Given the description of an element on the screen output the (x, y) to click on. 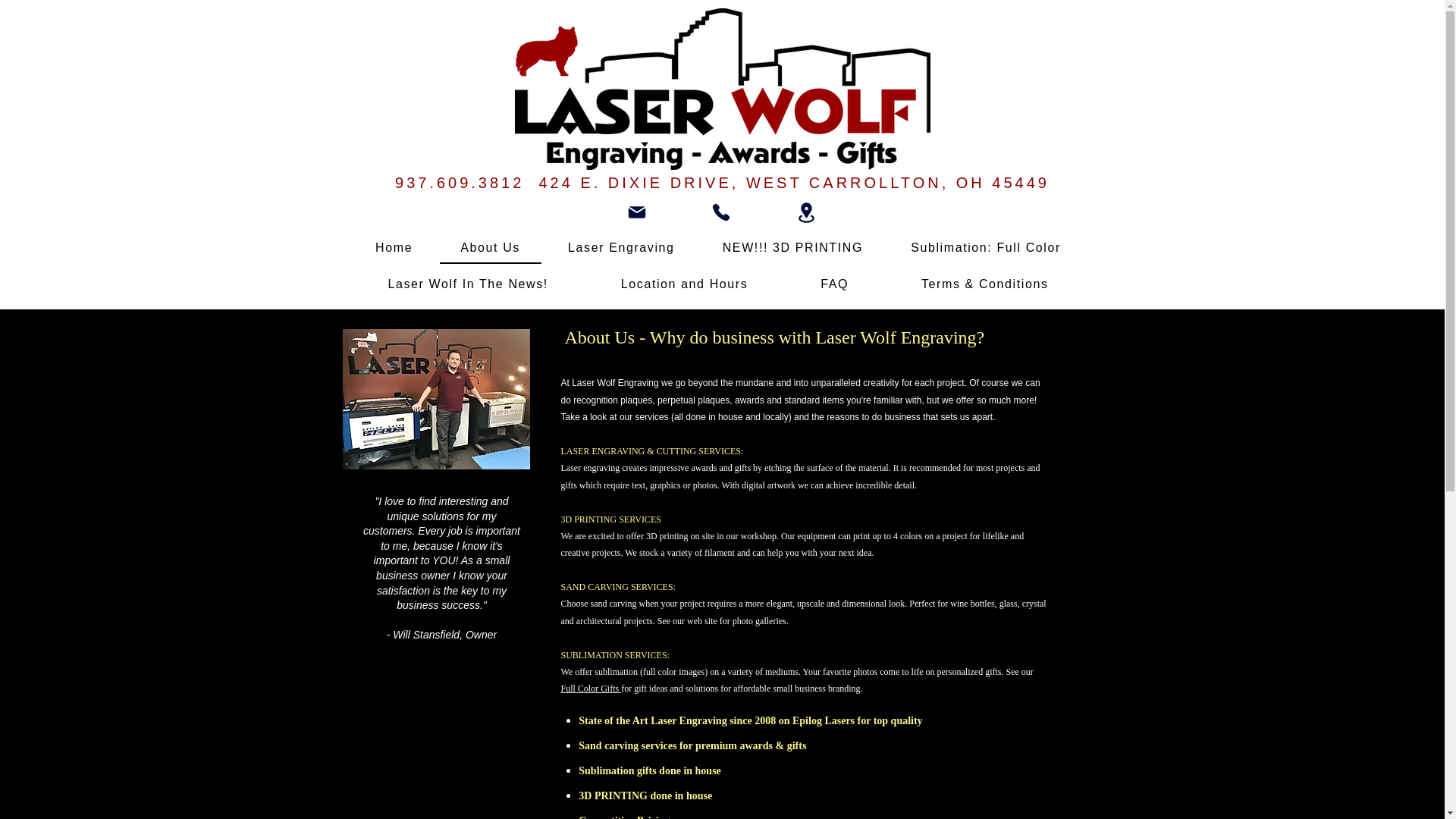
Sublimation: Full Color (985, 248)
About Us (490, 248)
Home (394, 248)
LWE Logo 2.png (721, 88)
Laser Wolf In The News! (467, 285)
Full Color Gifts (590, 688)
Location and Hours (684, 285)
FAQ (834, 285)
NEW!!! 3D PRINTING (792, 248)
Laser Engraving (621, 248)
